Given the description of an element on the screen output the (x, y) to click on. 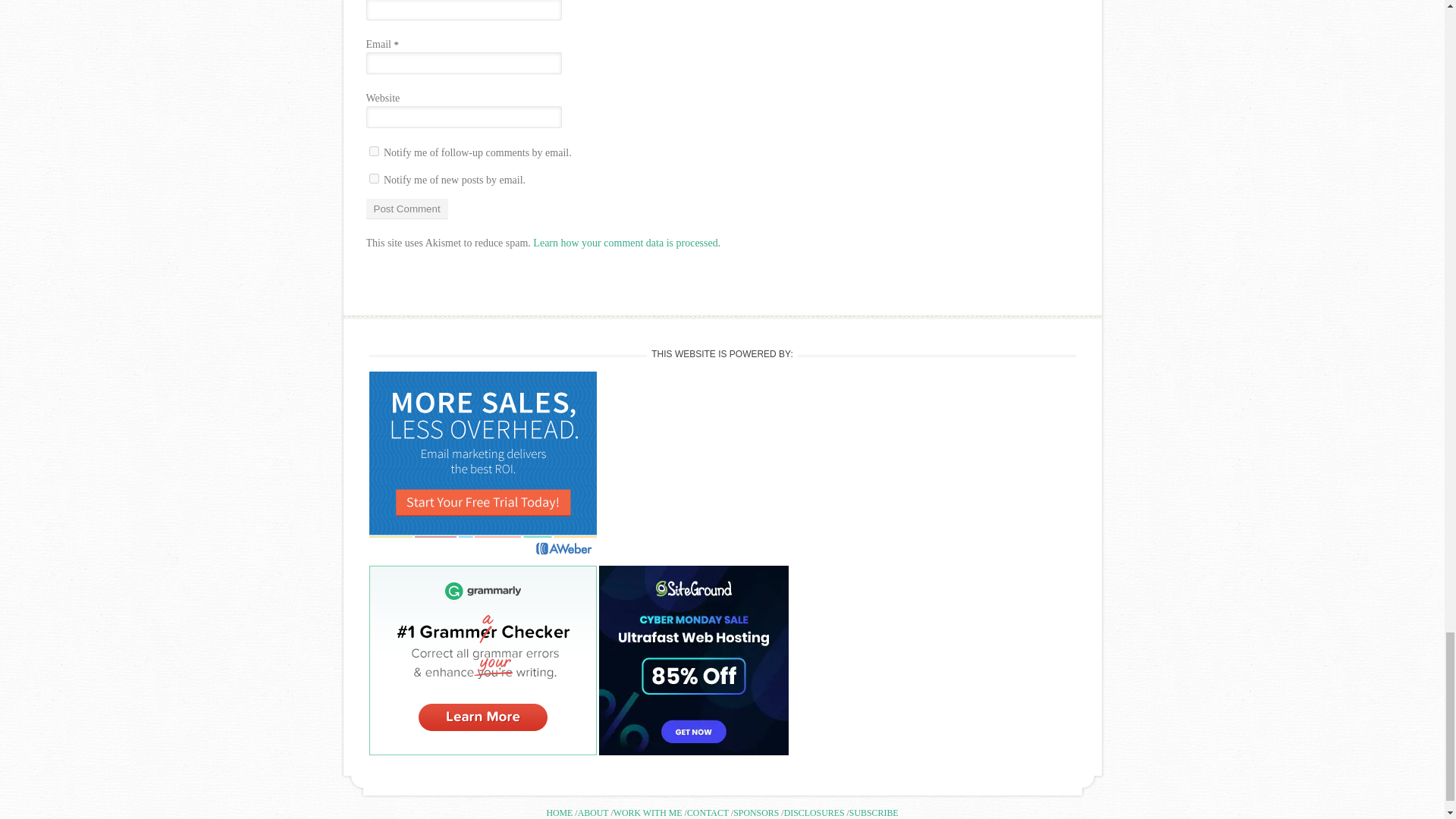
subscribe (373, 178)
subscribe (373, 151)
Post Comment (405, 209)
